Given the description of an element on the screen output the (x, y) to click on. 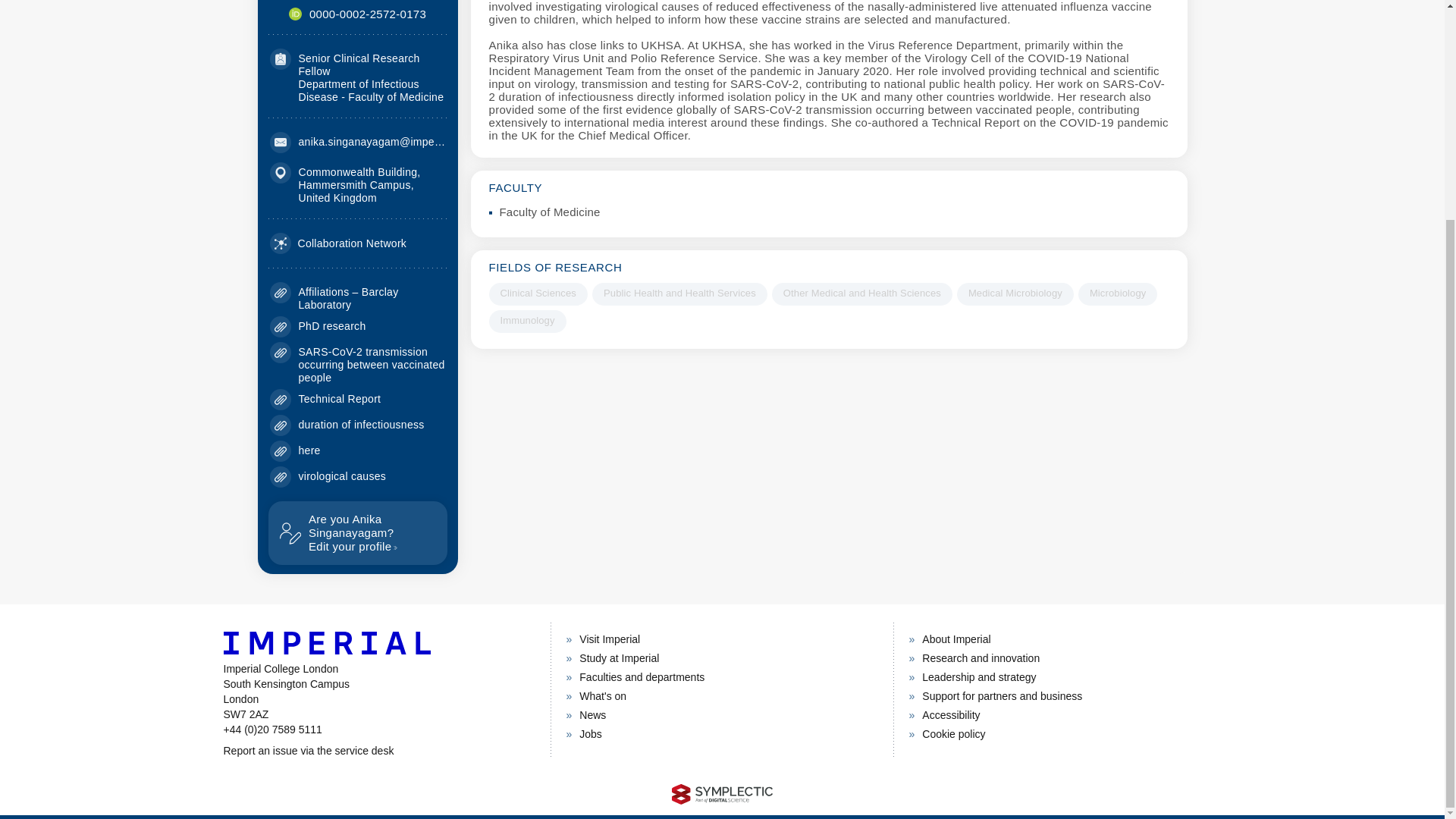
Public Health and Health Services (679, 293)
Report an issue via the service desk (378, 750)
Symplectic, part of Digital Science (722, 793)
Other Medical and Health Sciences (861, 293)
Microbiology (1117, 293)
Clinical Sciences (536, 293)
Symplectic, part of Digital Science (722, 793)
duration of infectiousness (361, 424)
here (309, 450)
virological causes (342, 476)
PhD research (332, 326)
0000-0002-2572-0173 (367, 13)
SARS-CoV-2 transmission occurring between vaccinated people (371, 364)
Technical Report (339, 398)
Medical Microbiology (1015, 293)
